Given the description of an element on the screen output the (x, y) to click on. 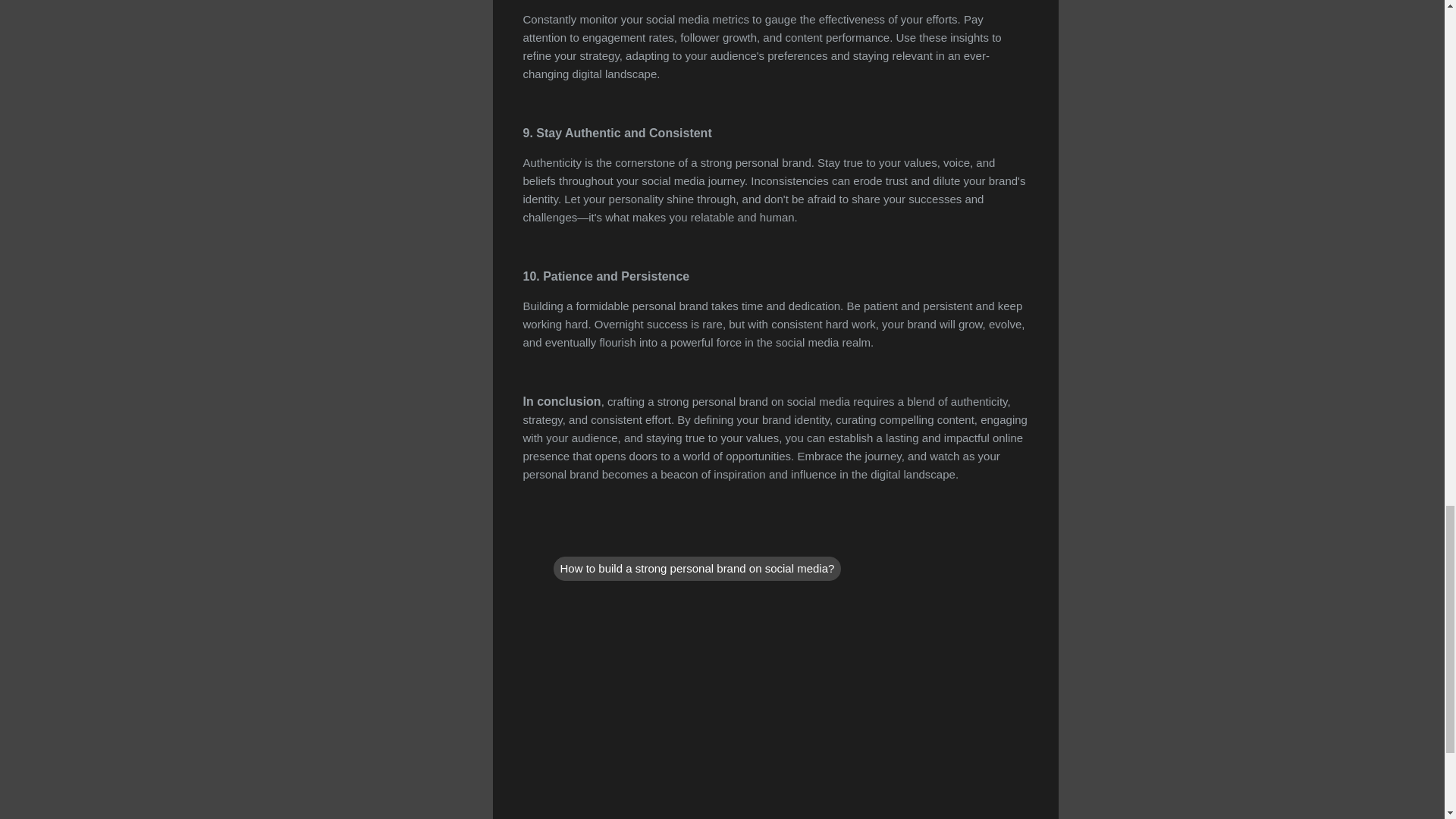
How to build a strong personal brand on social media? (697, 568)
Email Post (562, 536)
